Given the description of an element on the screen output the (x, y) to click on. 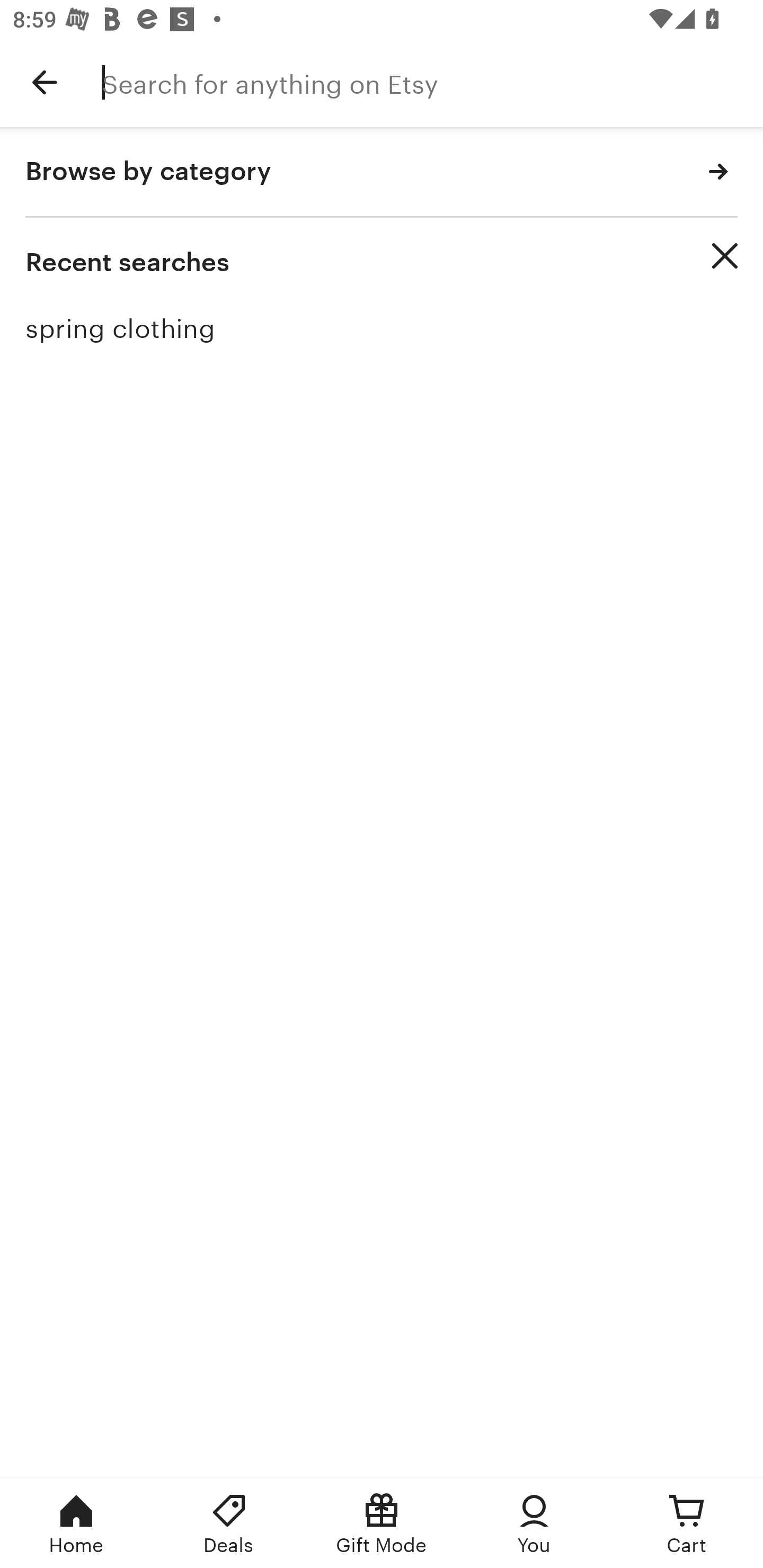
Navigate up (44, 82)
Search for anything on Etsy (432, 82)
Browse by category (381, 172)
Clear (724, 255)
spring clothing (381, 328)
Deals (228, 1523)
Gift Mode (381, 1523)
You (533, 1523)
Cart (686, 1523)
